Given the description of an element on the screen output the (x, y) to click on. 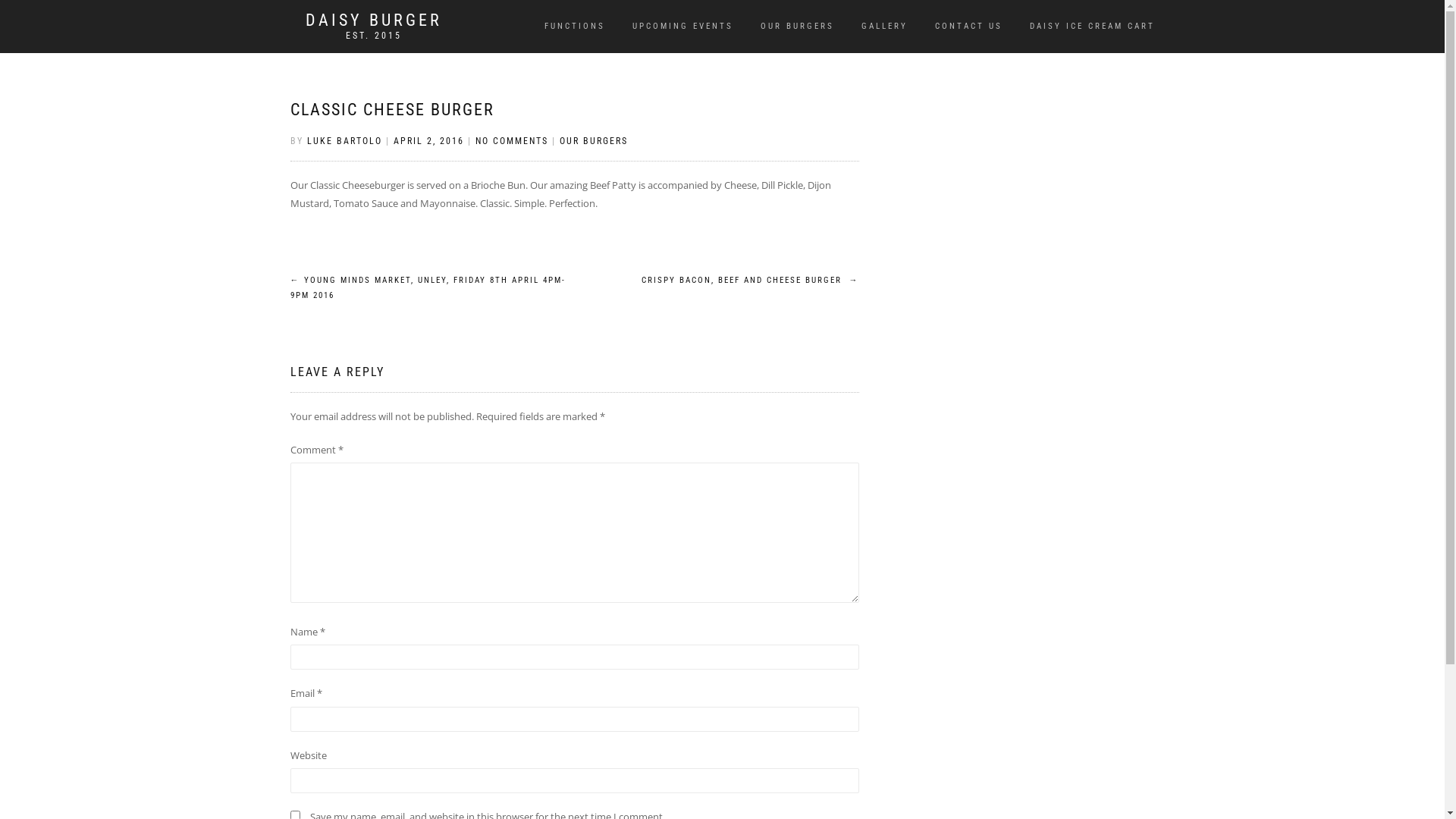
CLASSIC CHEESE BURGER Element type: text (391, 109)
LUKE BARTOLO Element type: text (343, 140)
GALLERY Element type: text (883, 26)
APRIL 2, 2016 Element type: text (427, 140)
CONTACT US Element type: text (968, 26)
OUR BURGERS Element type: text (593, 140)
OUR BURGERS Element type: text (797, 26)
EST. 2015 Element type: text (372, 35)
DAISY ICE CREAM CART Element type: text (1091, 26)
FUNCTIONS Element type: text (573, 26)
DAISY BURGER Element type: text (372, 20)
NO COMMENTS Element type: text (510, 140)
UPCOMING EVENTS Element type: text (681, 26)
